Given the description of an element on the screen output the (x, y) to click on. 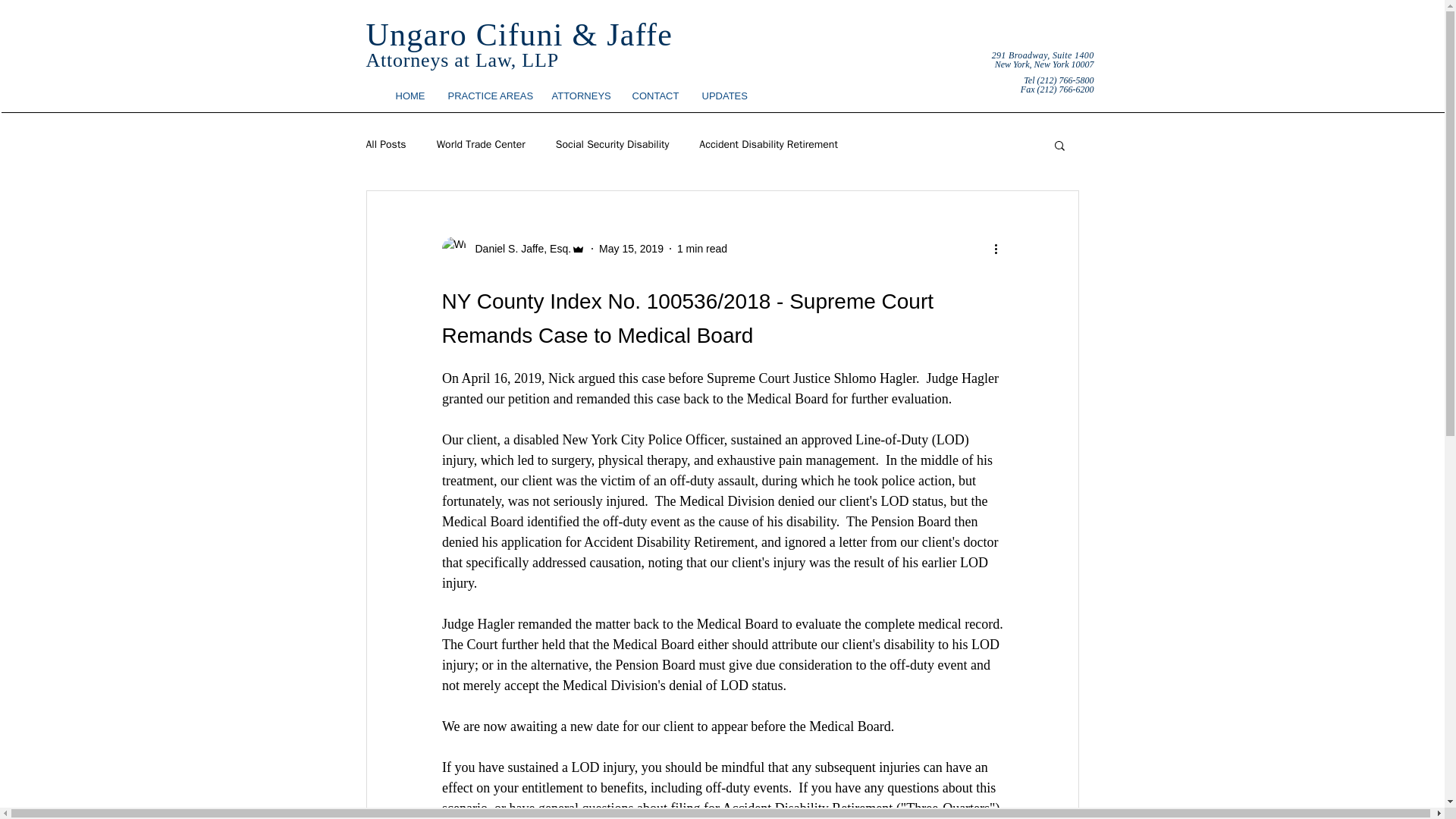
Accident Disability Retirement (768, 144)
PRACTICE AREAS (488, 96)
Daniel S. Jaffe, Esq. (513, 248)
Daniel S. Jaffe, Esq. (517, 248)
ATTORNEYS (580, 96)
CONTACT (655, 96)
Social Security Disability (612, 144)
All Posts (385, 144)
May 15, 2019 (630, 248)
1 min read (701, 248)
HOME (409, 96)
World Trade Center (480, 144)
UPDATES (723, 96)
